Given the description of an element on the screen output the (x, y) to click on. 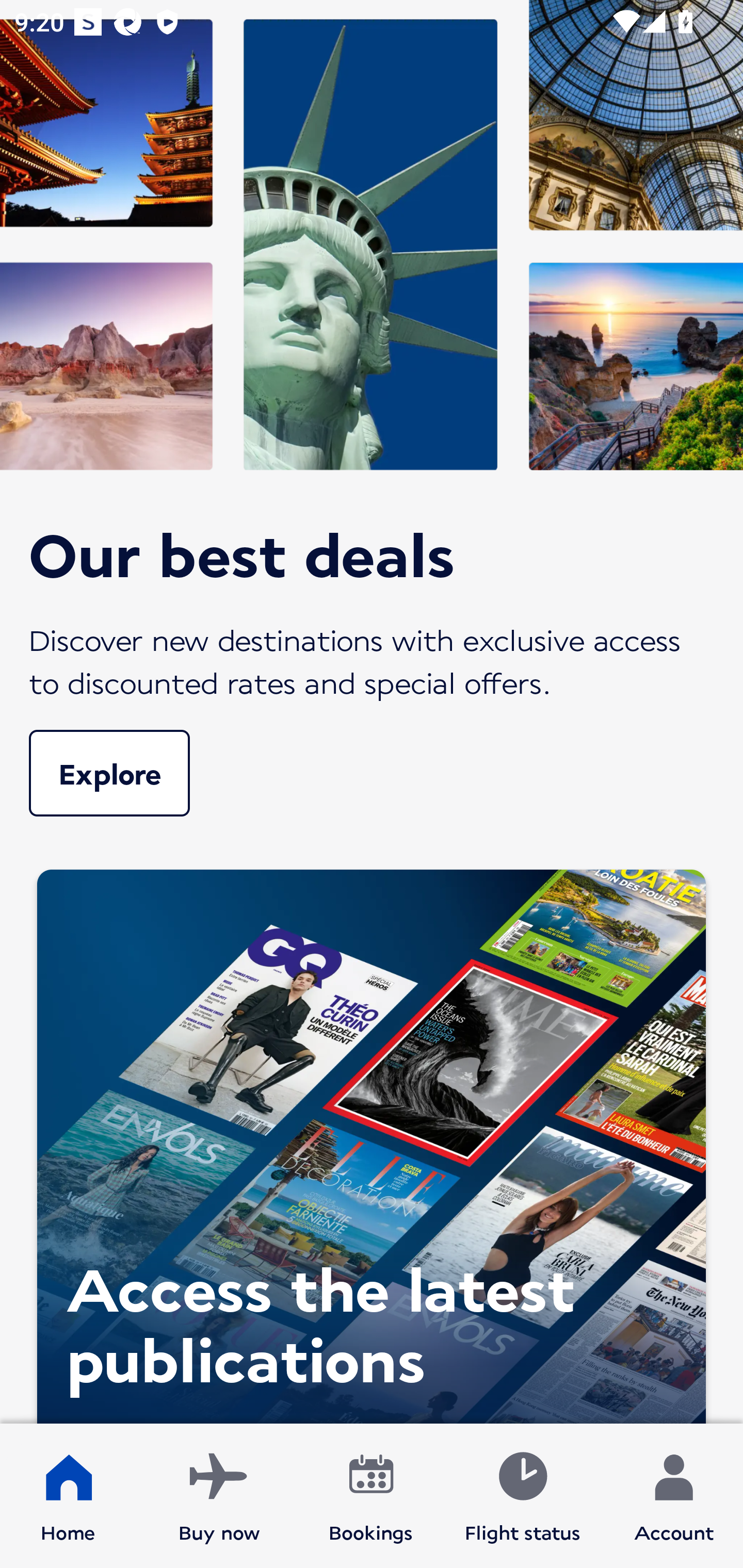
Access the latest publications (371, 1141)
Buy now (219, 1495)
Bookings (370, 1495)
Flight status (522, 1495)
Account (674, 1495)
